Given the description of an element on the screen output the (x, y) to click on. 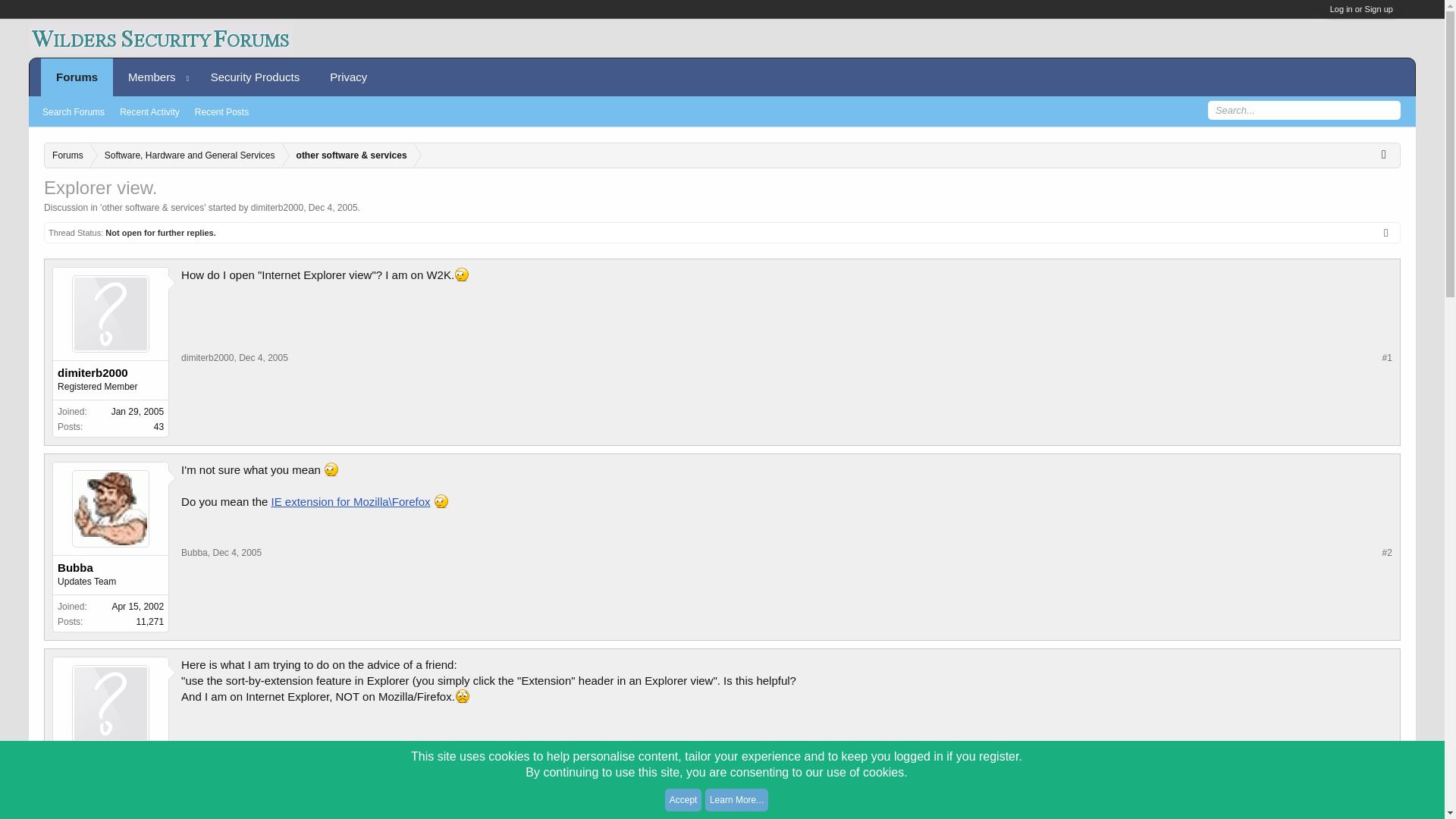
Unsure    :doubt: (440, 500)
Permalink (263, 747)
Bubba (194, 552)
Dec 4, 2005 at 10:53 AM (333, 207)
Log in or Sign up (1361, 8)
dimiterb2000 (206, 357)
Dec 4, 2005 (333, 207)
Bubba (110, 567)
Open quick navigation (1387, 153)
Dec 4, 2005 (263, 747)
